Given the description of an element on the screen output the (x, y) to click on. 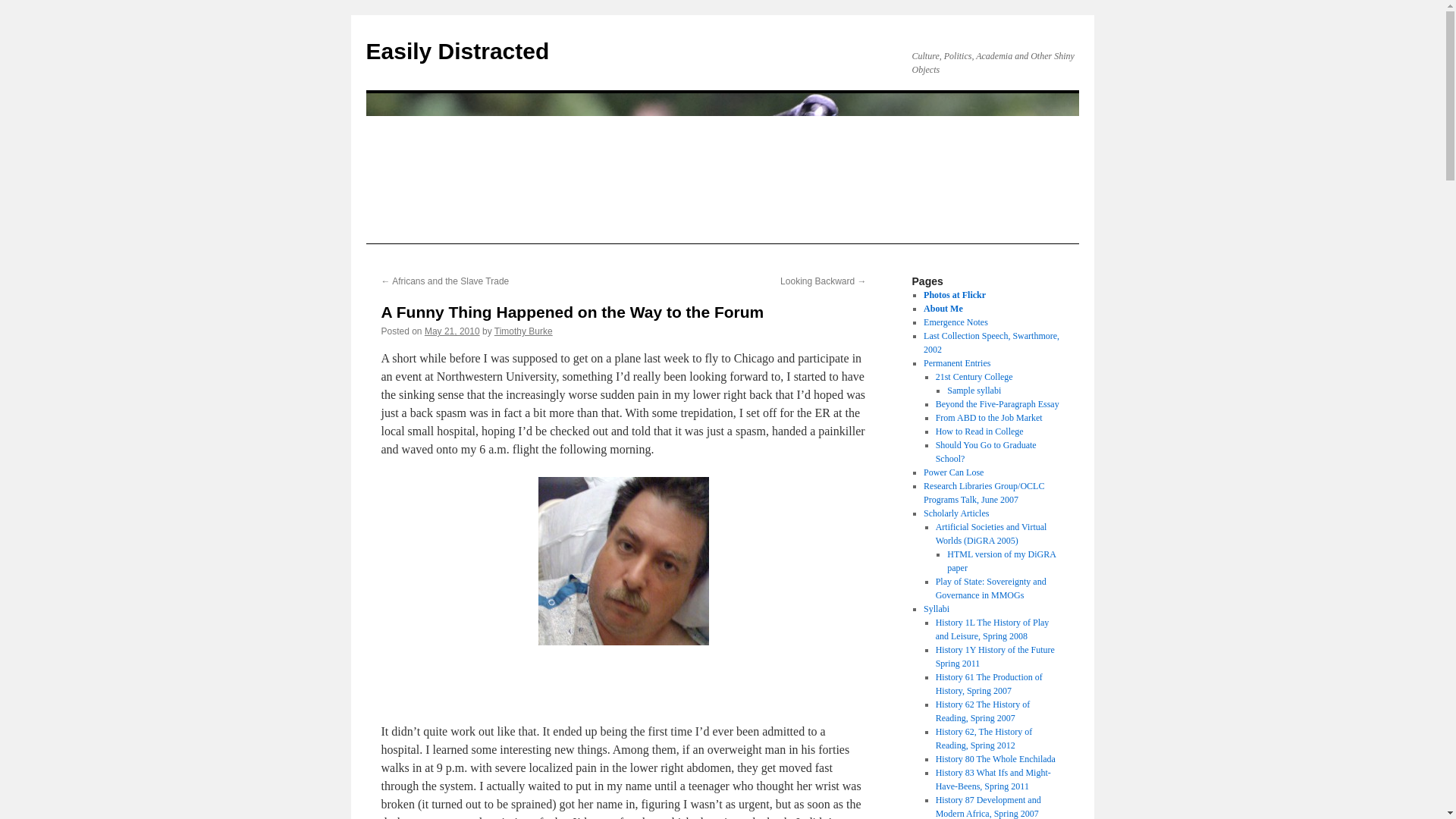
Photos at Flickr (954, 294)
Beyond the Five-Paragraph Essay (997, 403)
Emergence Notes (955, 321)
About Me (942, 308)
From ABD to the Job Market (989, 417)
Easily Distracted (456, 50)
Sample syllabi (974, 389)
Timothy Burke (524, 330)
How to Read in College (979, 430)
Easily Distracted (456, 50)
Should You Go to Graduate School? (986, 451)
Last Collection Speech, Swarthmore, 2002 (991, 342)
View all posts by Timothy Burke (524, 330)
Power Can Lose (953, 471)
1:48 pm (452, 330)
